Given the description of an element on the screen output the (x, y) to click on. 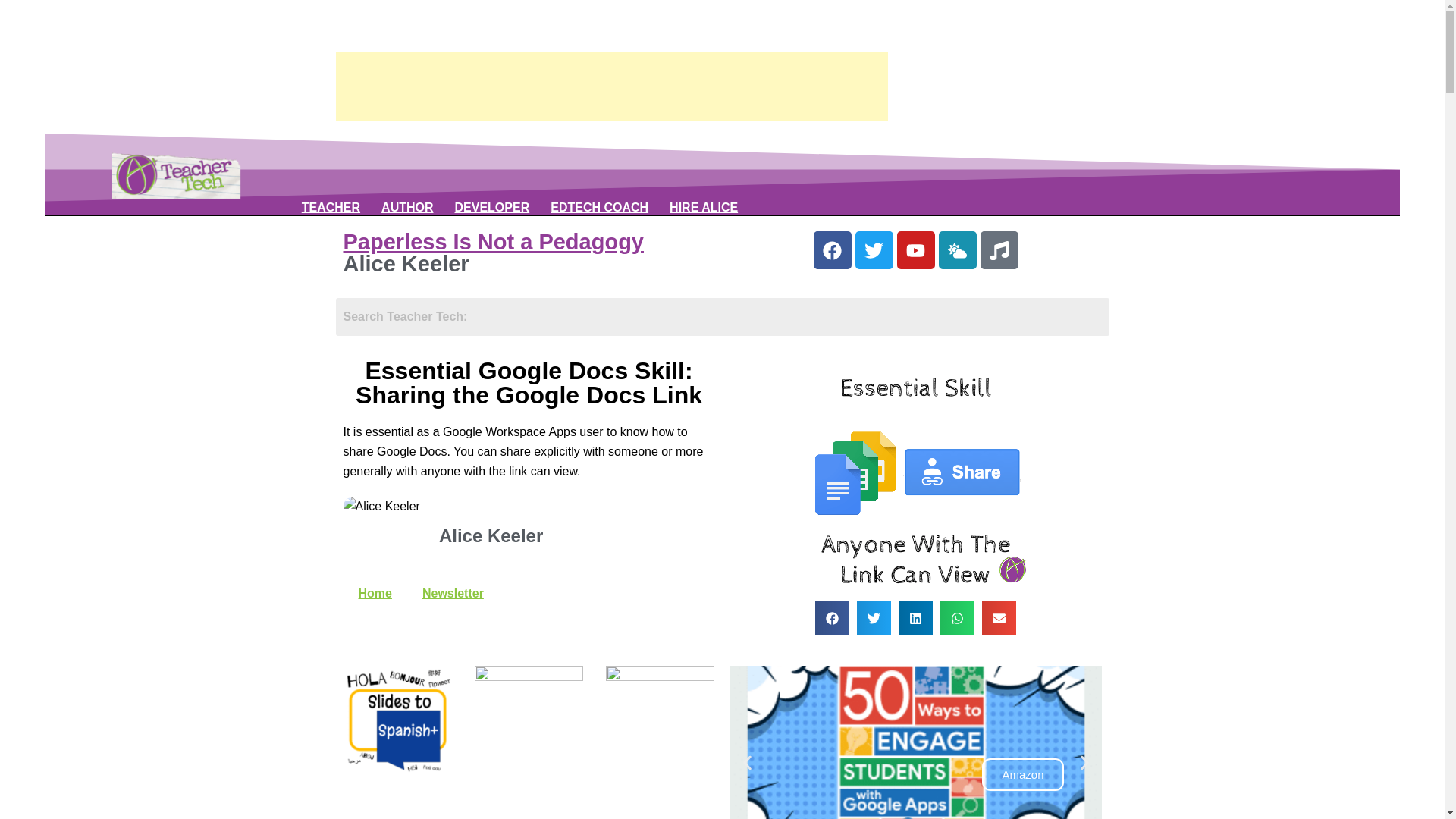
Books (406, 207)
TEACHER (330, 207)
AUTHOR (406, 207)
DEVELOPER (491, 207)
Search (721, 316)
